Given the description of an element on the screen output the (x, y) to click on. 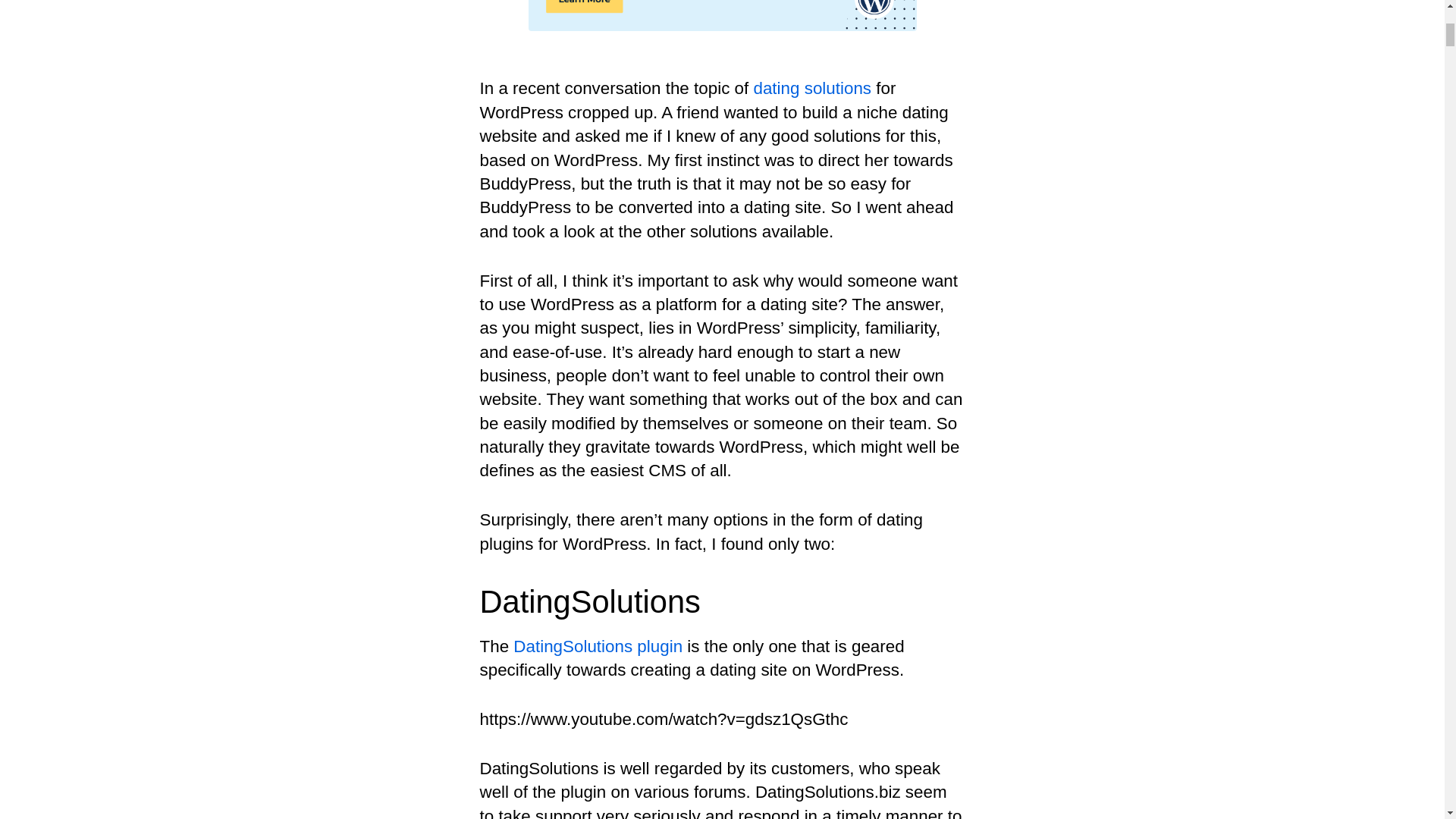
DatingSolutions (811, 87)
dating solutions (811, 87)
DatingSolutions plugin (597, 646)
